Given the description of an element on the screen output the (x, y) to click on. 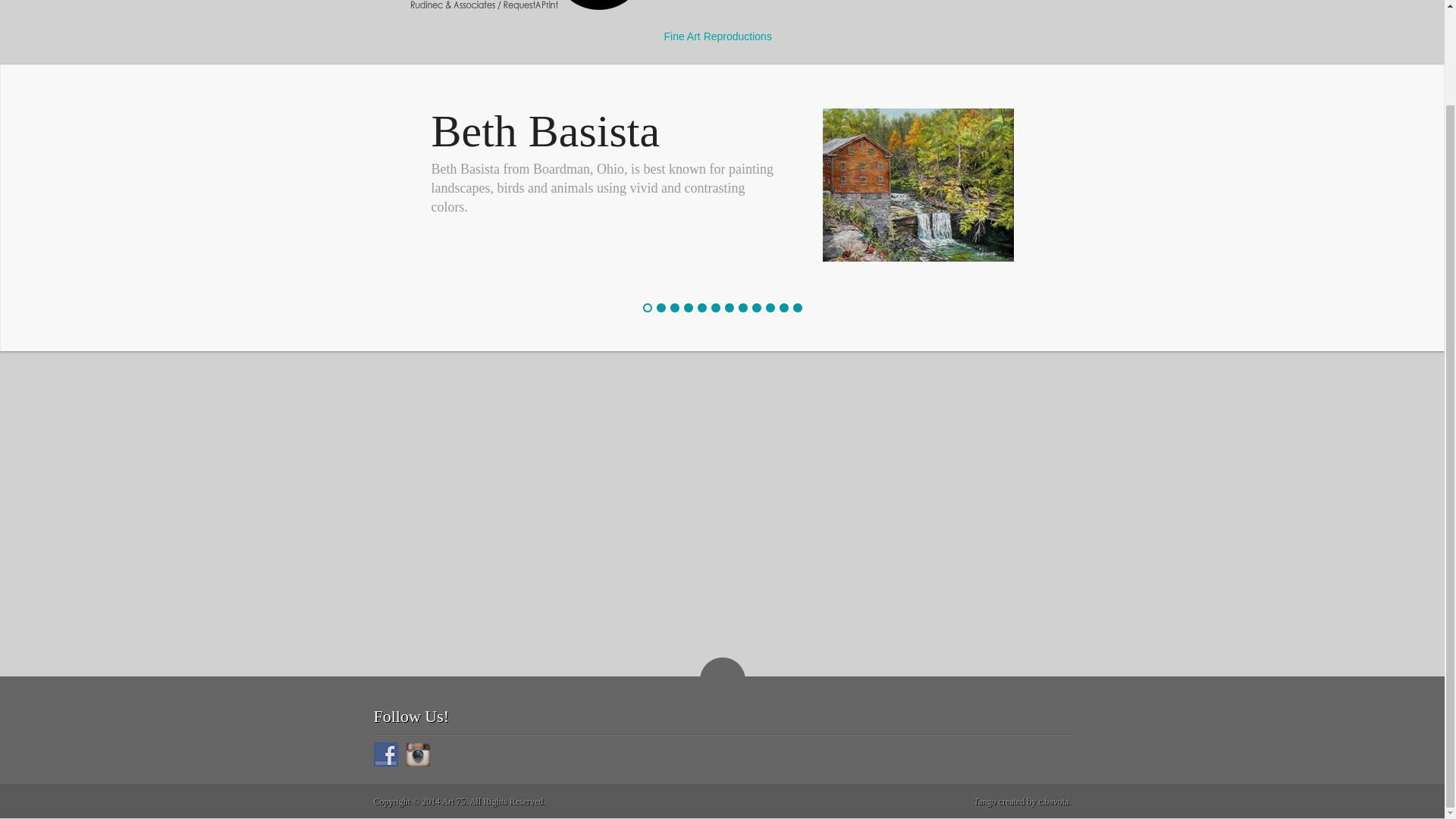
Follow Us on Facebook (384, 754)
Follow Us on Instagram (416, 754)
Art 75 (512, 36)
